Given the description of an element on the screen output the (x, y) to click on. 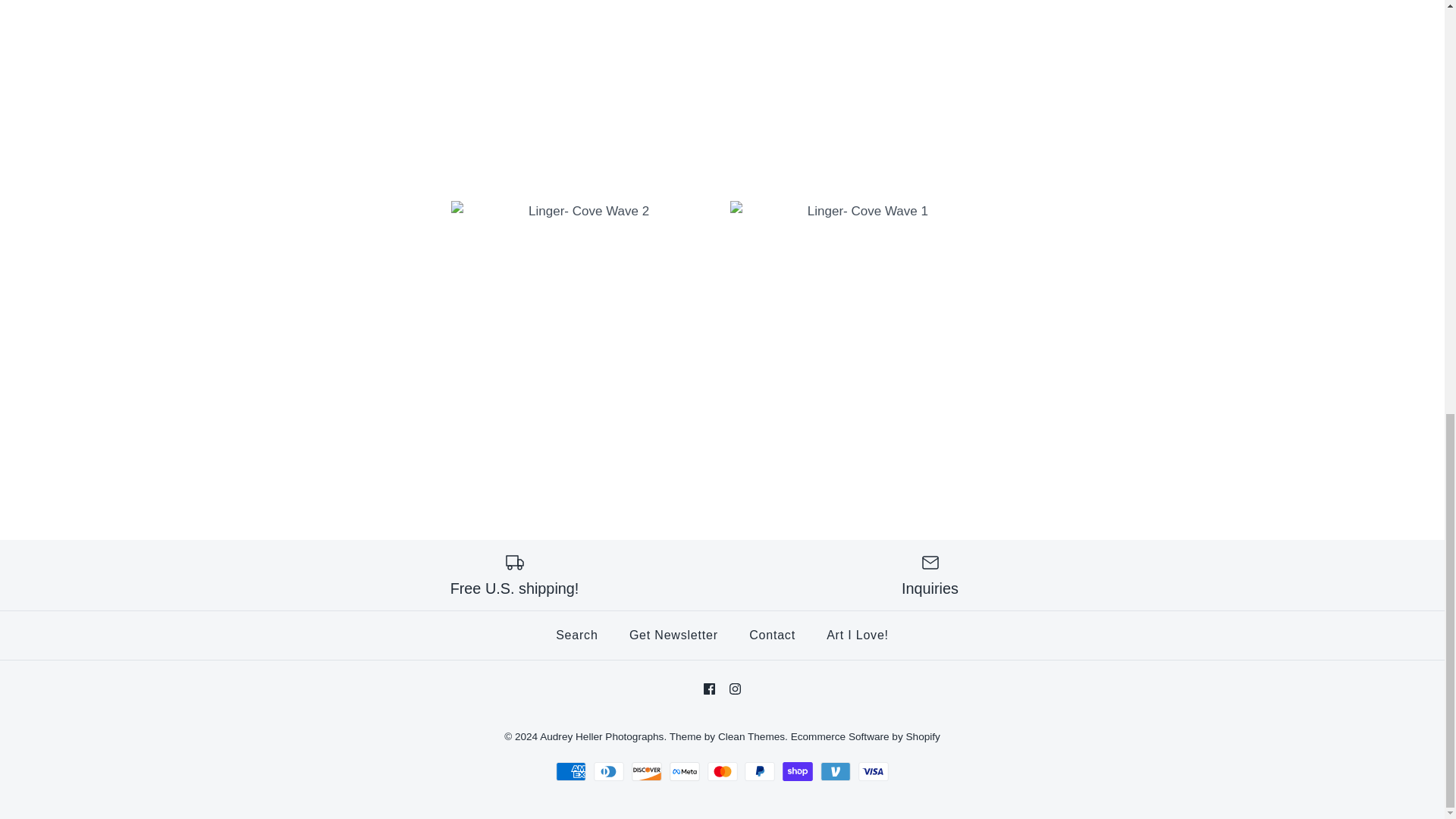
Venmo (835, 771)
Mastercard (721, 771)
Facebook (708, 688)
American Express (571, 771)
PayPal (759, 771)
Discover (646, 771)
Instagram (735, 688)
Meta Pay (684, 771)
Shop Pay (797, 771)
Diners Club (609, 771)
